Given the description of an element on the screen output the (x, y) to click on. 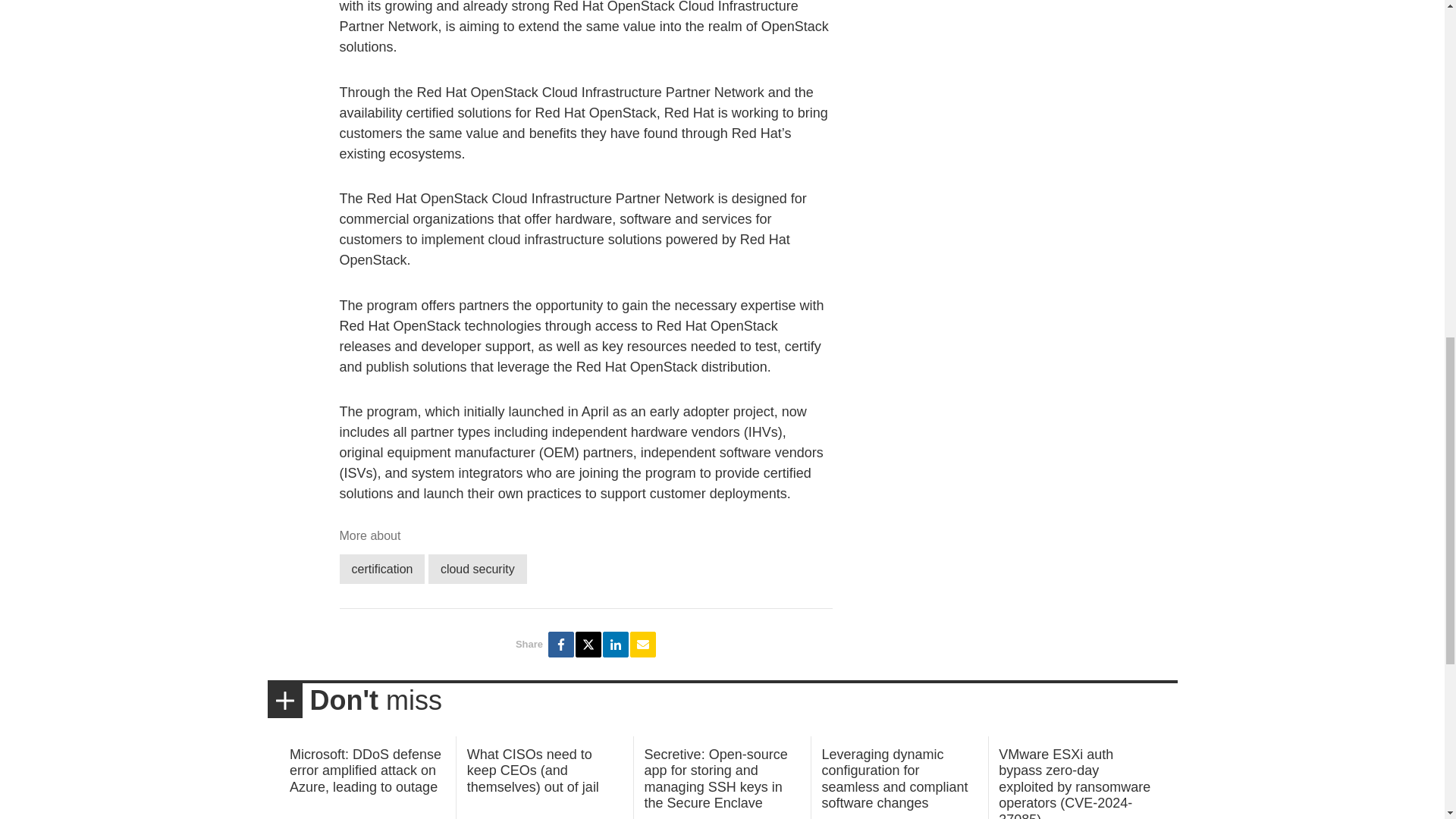
cloud security (477, 568)
certification (382, 568)
certification (382, 568)
cloud security (477, 568)
